Given the description of an element on the screen output the (x, y) to click on. 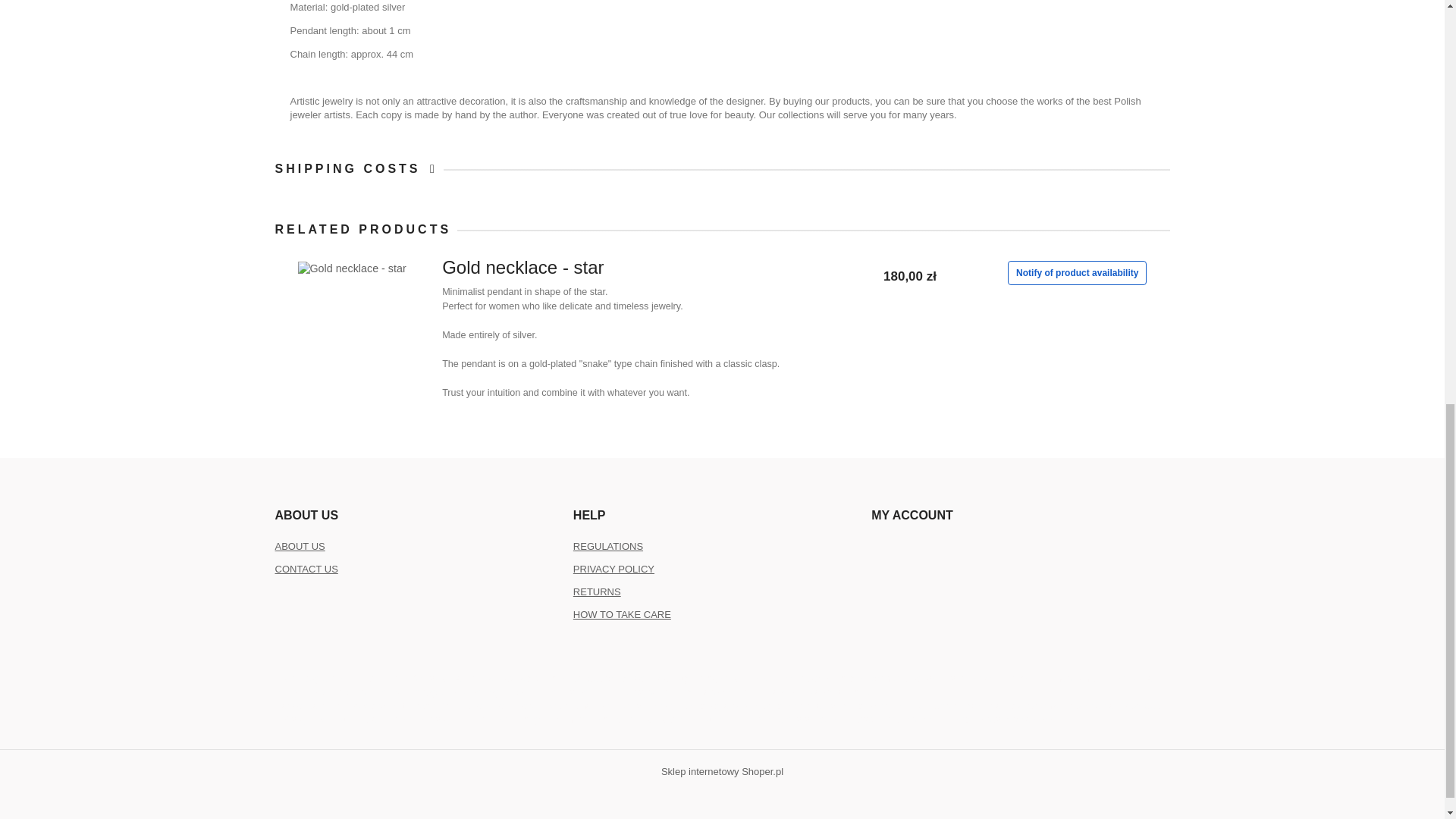
CONTACT US (306, 568)
Sklep internetowy Shoper.pl (722, 771)
Notify of product availability (1077, 273)
ABOUT US (299, 546)
REGULATIONS (608, 546)
PRIVACY POLICY (613, 568)
Gold necklace - star (649, 271)
HOW TO TAKE CARE (622, 614)
Gold necklace - star (360, 272)
Gold necklace - star (649, 271)
RETURNS (597, 591)
